Given the description of an element on the screen output the (x, y) to click on. 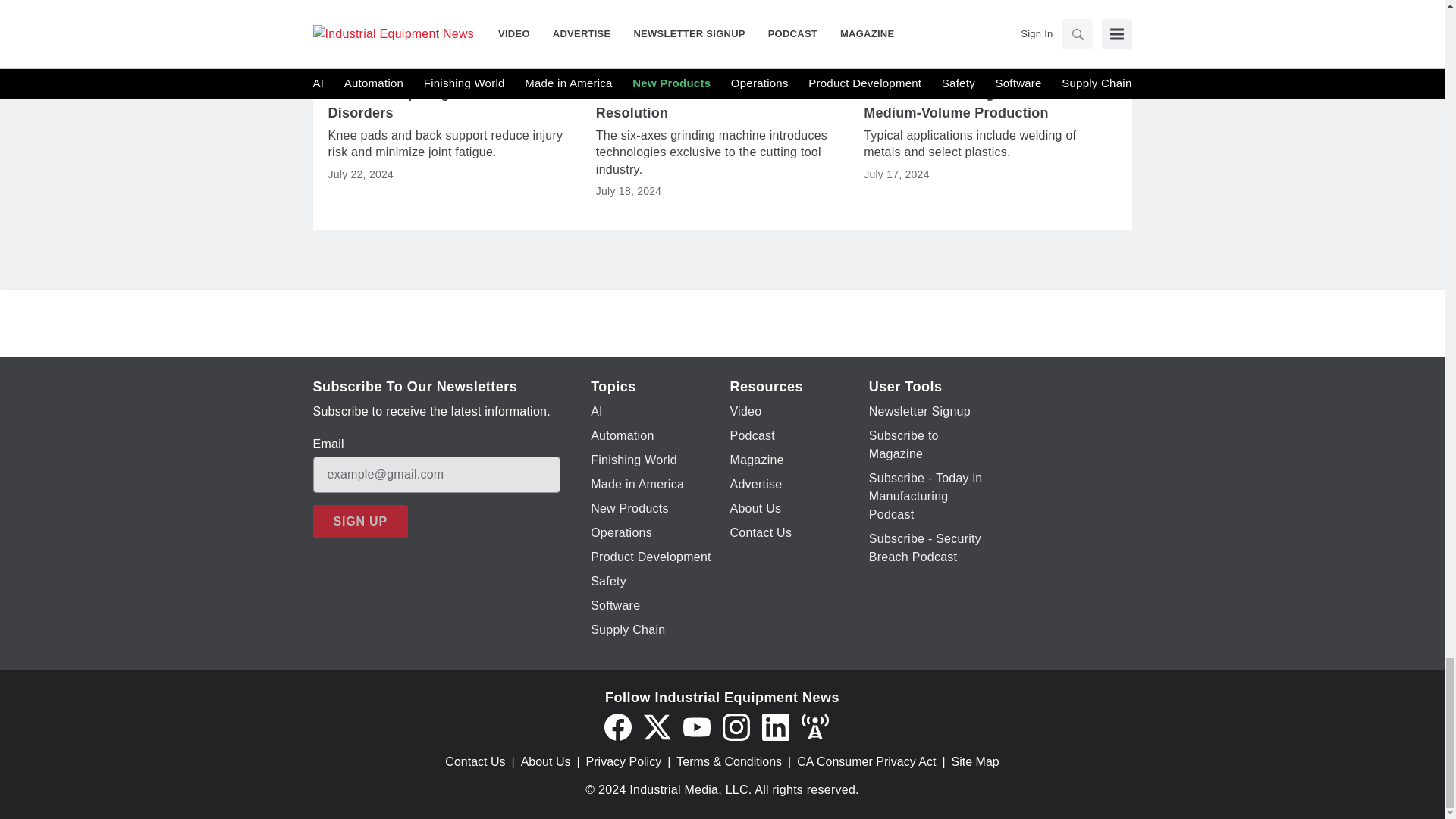
Instagram icon (735, 727)
YouTube icon (696, 727)
LinkedIn icon (775, 727)
Twitter X icon (656, 727)
Facebook icon (617, 727)
